Given the description of an element on the screen output the (x, y) to click on. 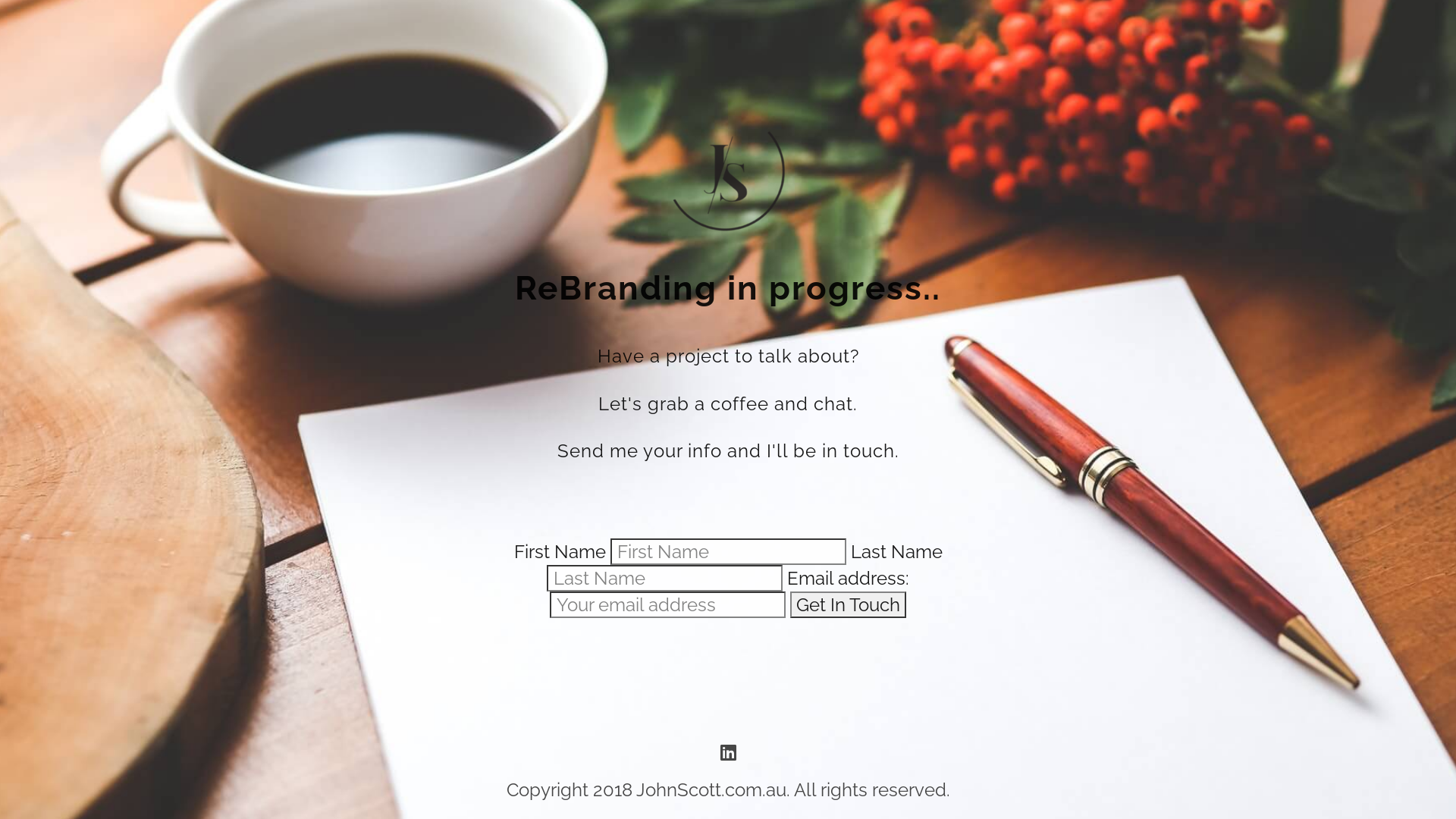
Get In Touch Element type: text (848, 604)
